Given the description of an element on the screen output the (x, y) to click on. 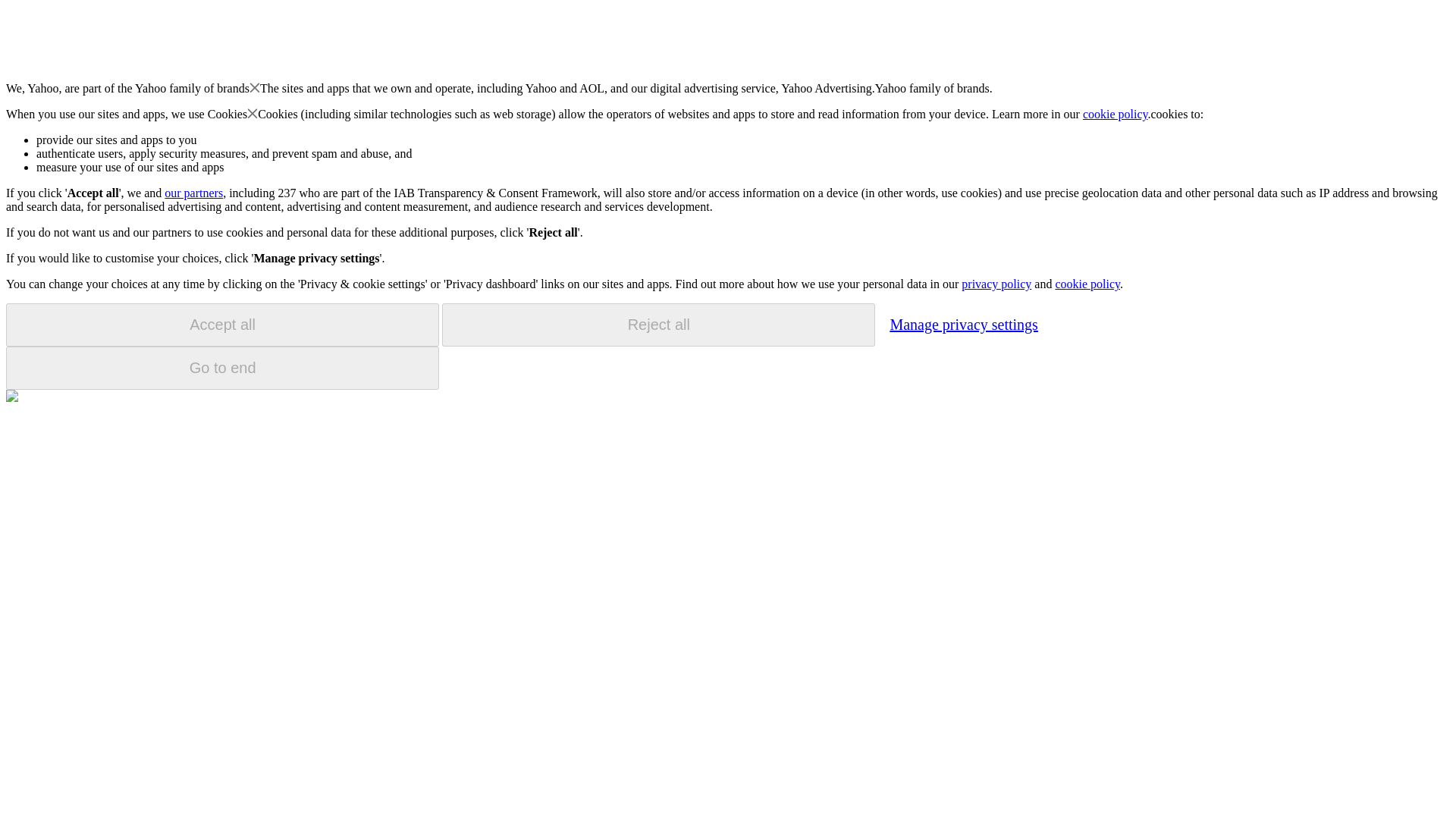
Manage privacy settings (963, 323)
our partners (193, 192)
Reject all (658, 324)
Go to end (222, 367)
Accept all (222, 324)
cookie policy (1115, 113)
privacy policy (995, 283)
cookie policy (1086, 283)
